Given the description of an element on the screen output the (x, y) to click on. 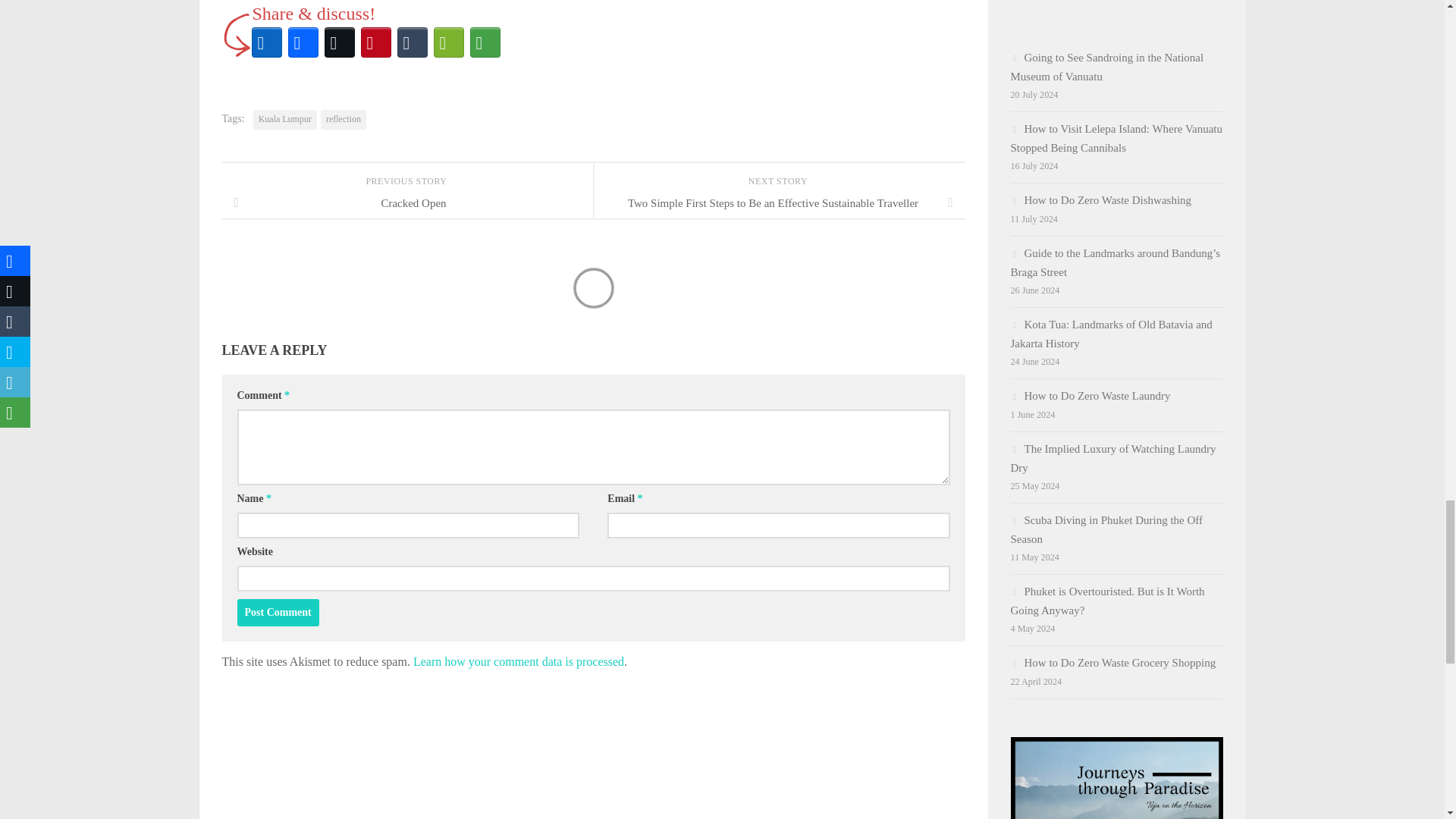
Post Comment (276, 612)
Pinterest (376, 42)
WeChat (448, 42)
LinkedIn (266, 42)
Facebook (303, 42)
Tumblr (412, 42)
More Options (485, 42)
